Given the description of an element on the screen output the (x, y) to click on. 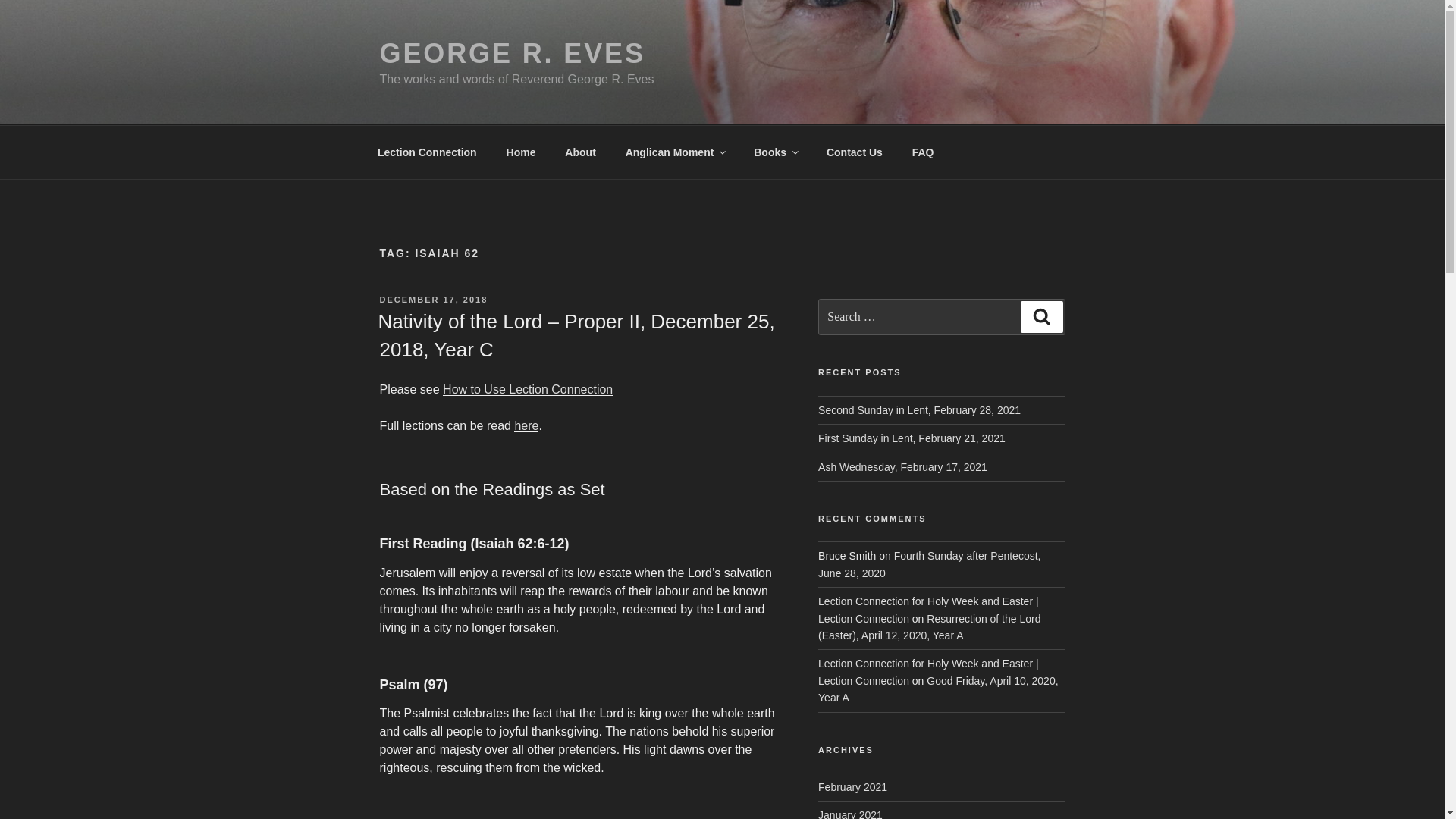
Second Sunday in Lent, February 28, 2021 (919, 410)
Search (1041, 316)
First Sunday in Lent, February 21, 2021 (912, 438)
GEORGE R. EVES (511, 52)
Contact Us (853, 151)
Good Friday, April 10, 2020, Year A (938, 688)
Ash Wednesday, February 17, 2021 (902, 467)
February 2021 (852, 787)
here (525, 425)
FAQ (922, 151)
DECEMBER 17, 2018 (432, 298)
January 2021 (850, 814)
Fourth Sunday after Pentecost, June 28, 2020 (929, 563)
Lection Connection (426, 151)
